Given the description of an element on the screen output the (x, y) to click on. 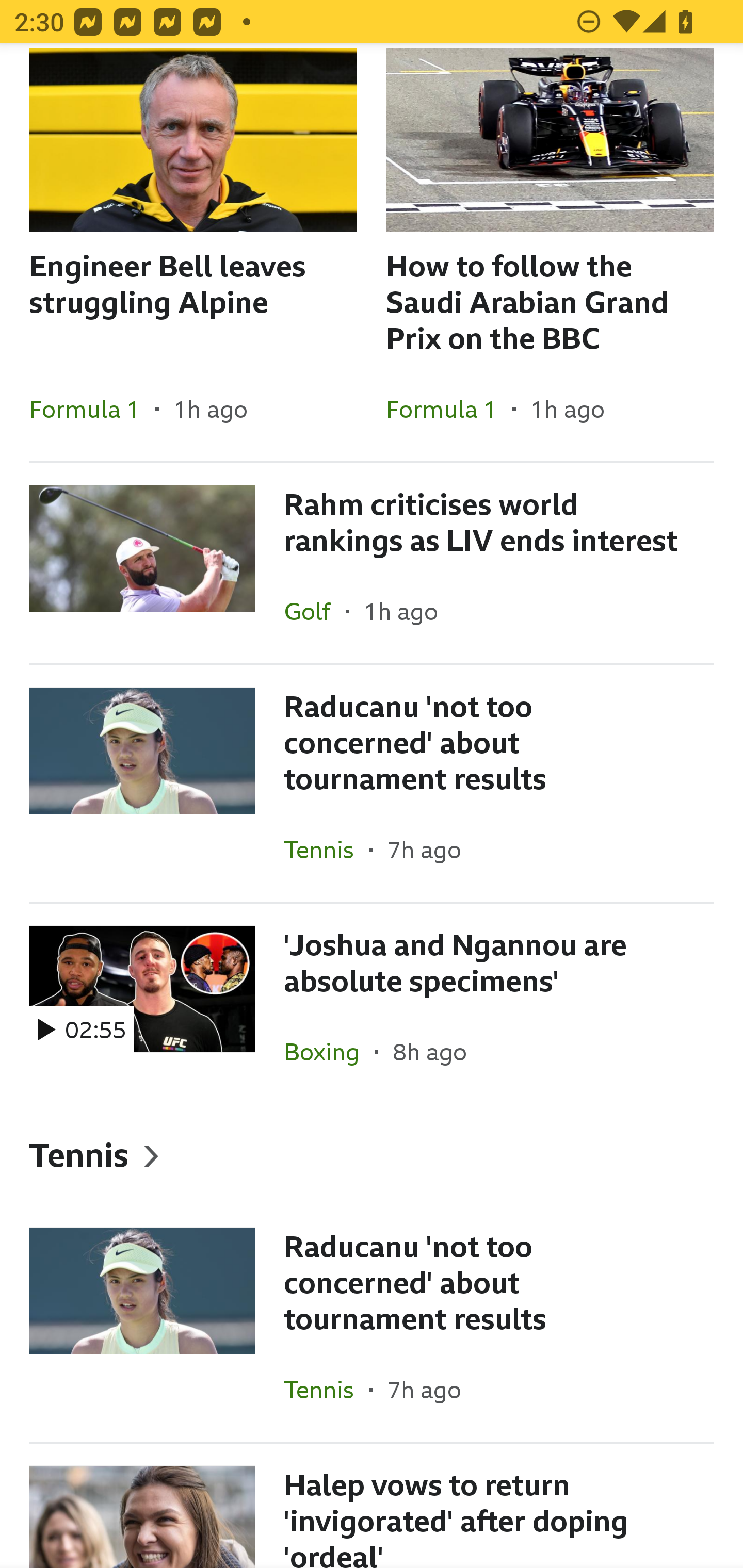
Tennis, Heading Tennis    (371, 1154)
